Given the description of an element on the screen output the (x, y) to click on. 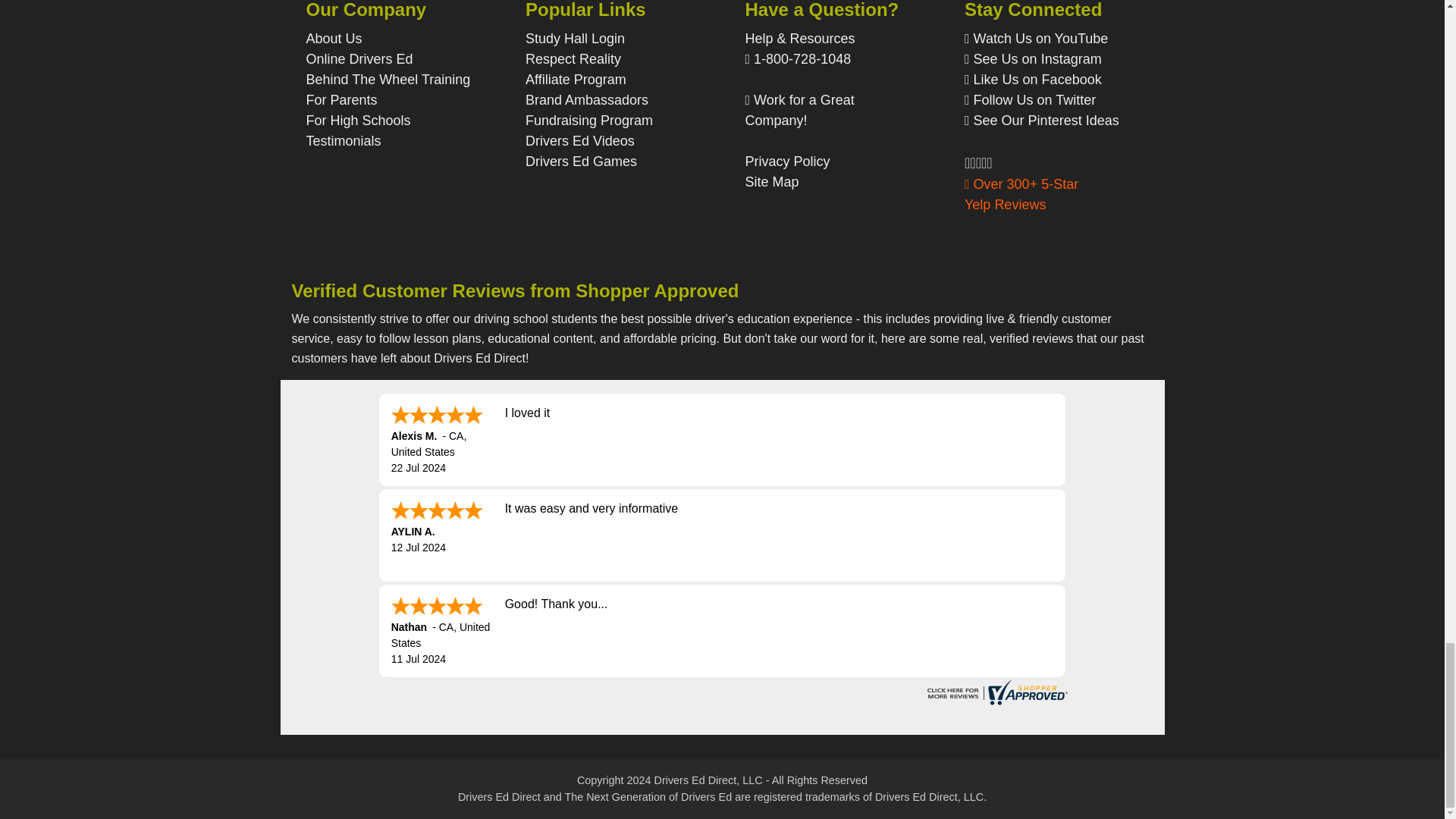
Work for a Great Company! (798, 109)
About Us (333, 38)
Drivers Ed Games (581, 160)
Like Us on Facebook (1050, 79)
For High Schools (357, 120)
Privacy Policy (786, 160)
Respect Reality (573, 58)
See Us on Instagram (1050, 59)
Online Drivers Ed (359, 58)
Fundraising Program (588, 120)
Study Hall Login (574, 38)
For Parents (341, 99)
Affiliate Program (575, 79)
See Our Pinterest Ideas (1050, 129)
Brand Ambassadors (586, 99)
